Given the description of an element on the screen output the (x, y) to click on. 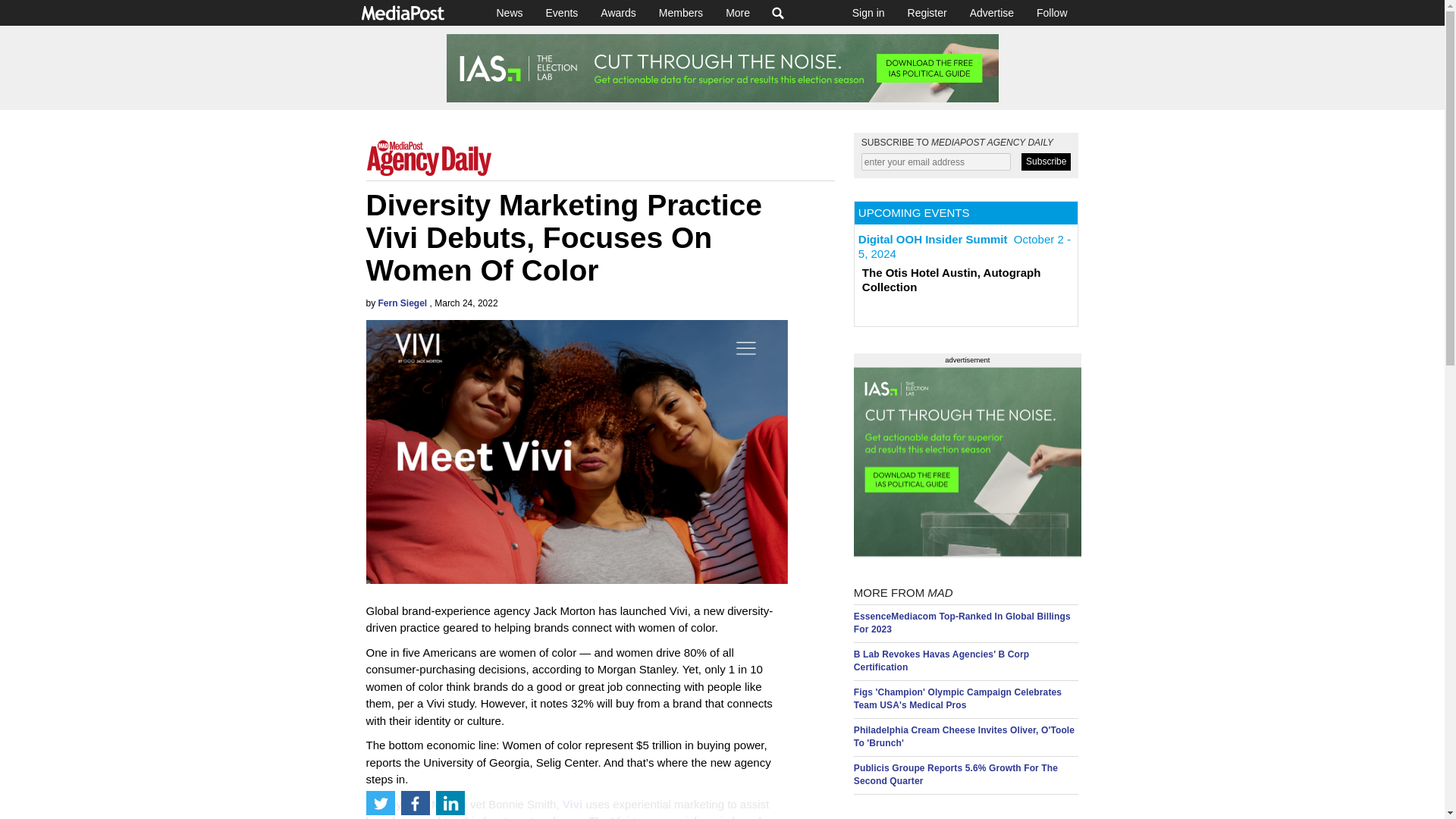
Subscribe (1046, 161)
News (509, 12)
Share on Twitter (379, 802)
Share on LinkedIn (449, 802)
Share on Facebook (414, 802)
